Given the description of an element on the screen output the (x, y) to click on. 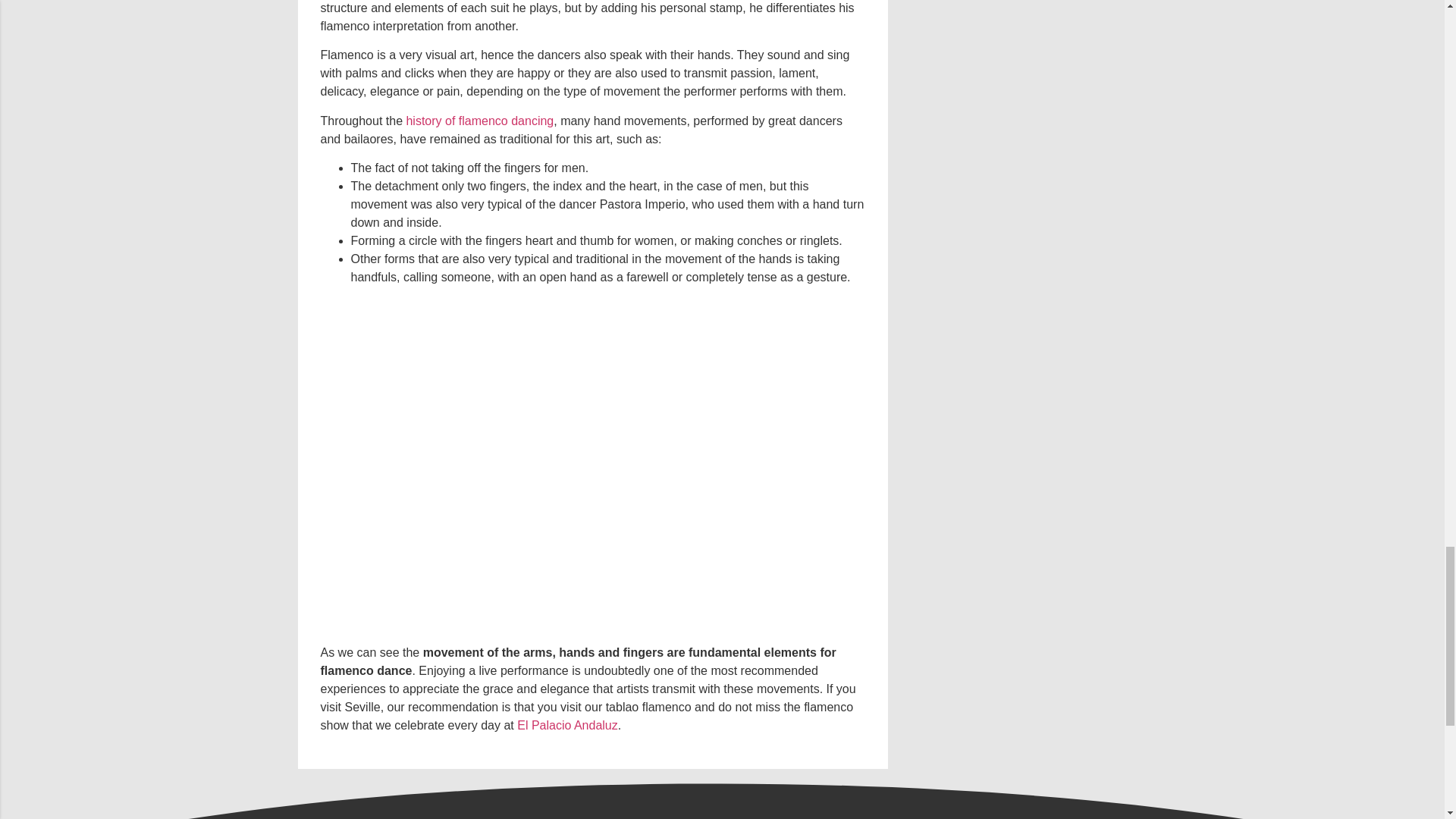
El Palacio Andaluz (566, 725)
history of flamenco dancing (479, 120)
